Given the description of an element on the screen output the (x, y) to click on. 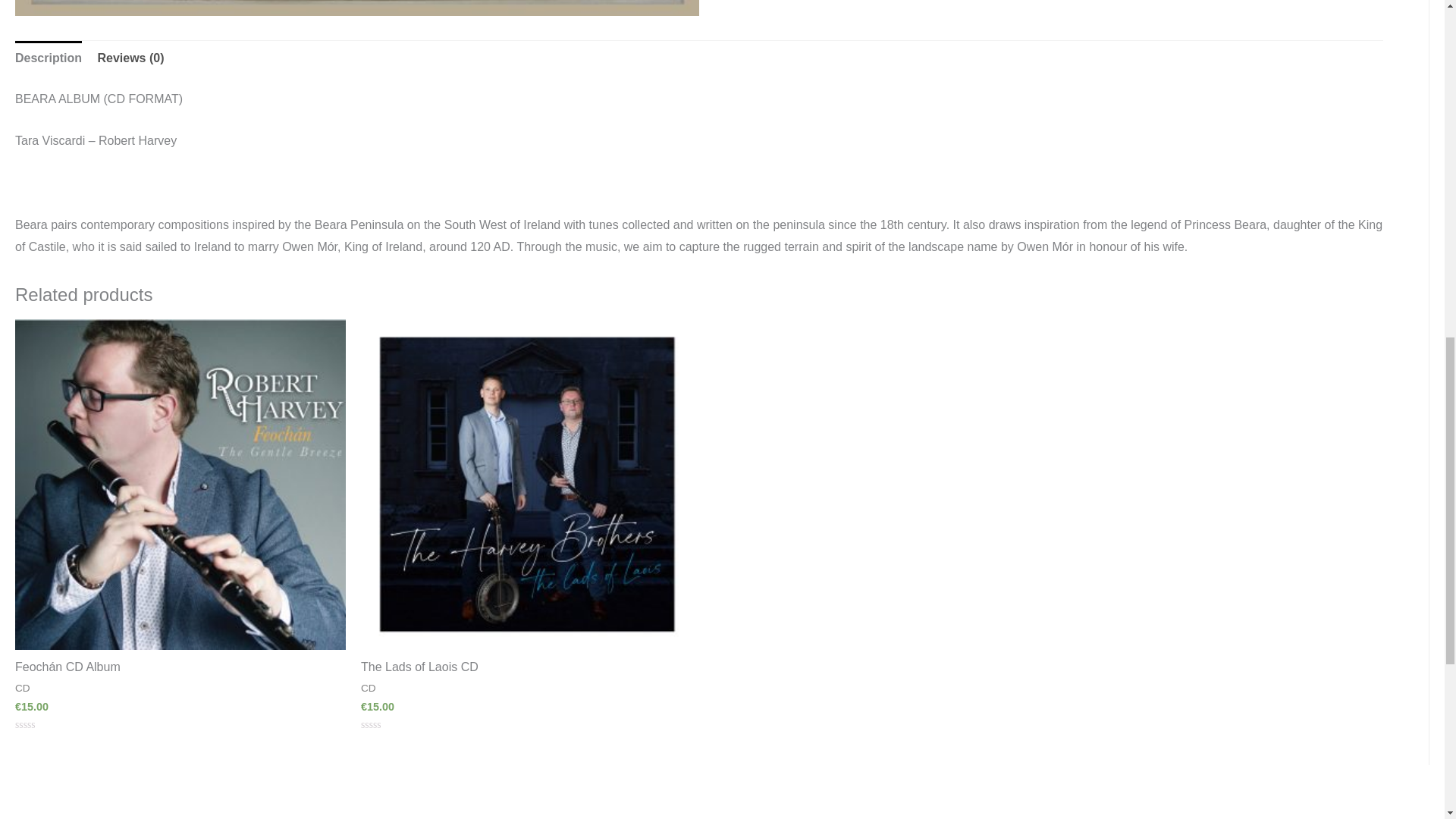
The Lads of Laois CD (526, 667)
Description (47, 58)
BeraCDcover (356, 7)
